Given the description of an element on the screen output the (x, y) to click on. 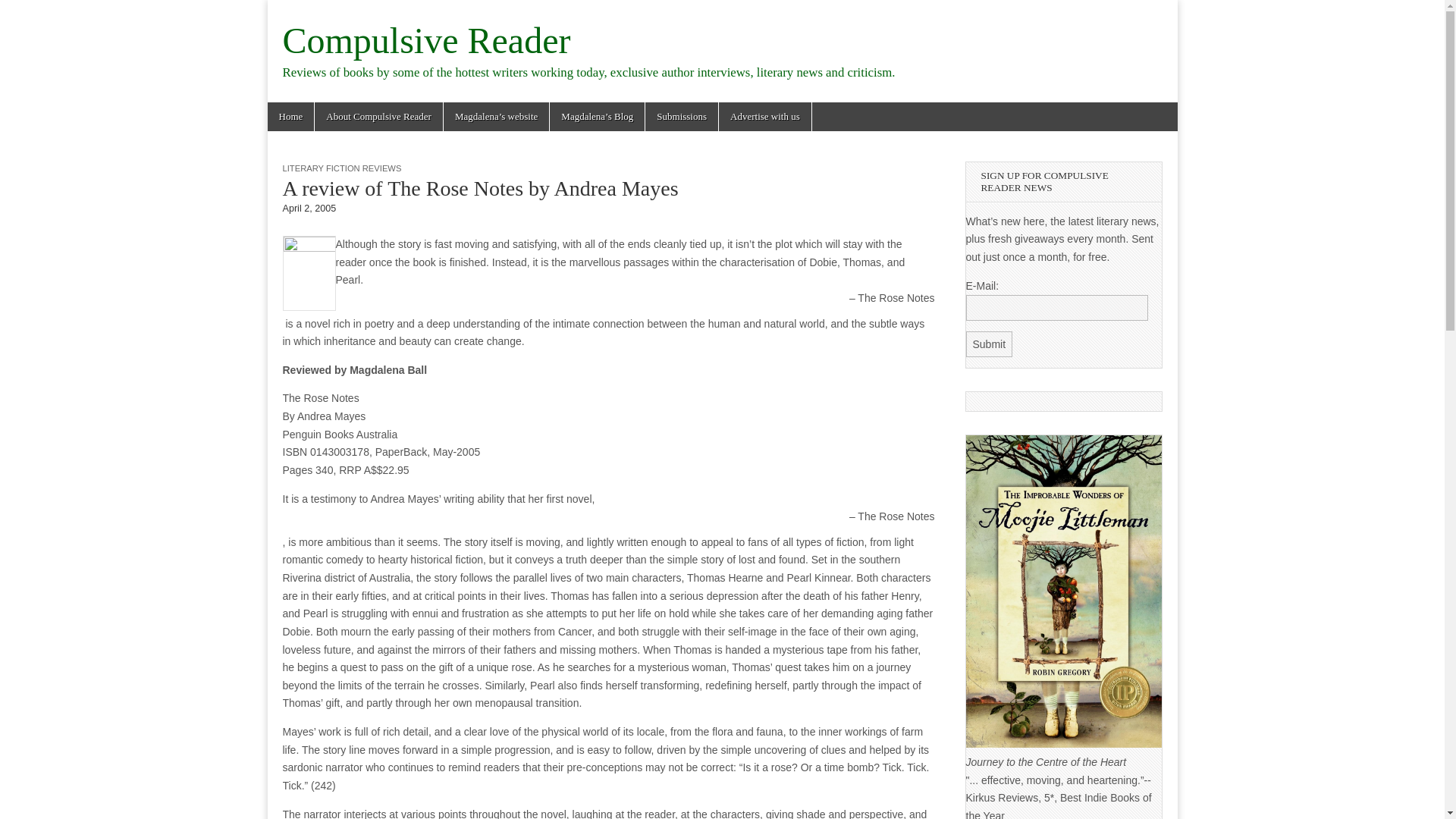
Search (23, 12)
Submit (989, 344)
About Compulsive Reader (378, 116)
LITERARY FICTION REVIEWS (341, 167)
Advertise with us (764, 116)
Compulsive Reader (426, 40)
Compulsive Reader (426, 40)
Submit (989, 344)
